Given the description of an element on the screen output the (x, y) to click on. 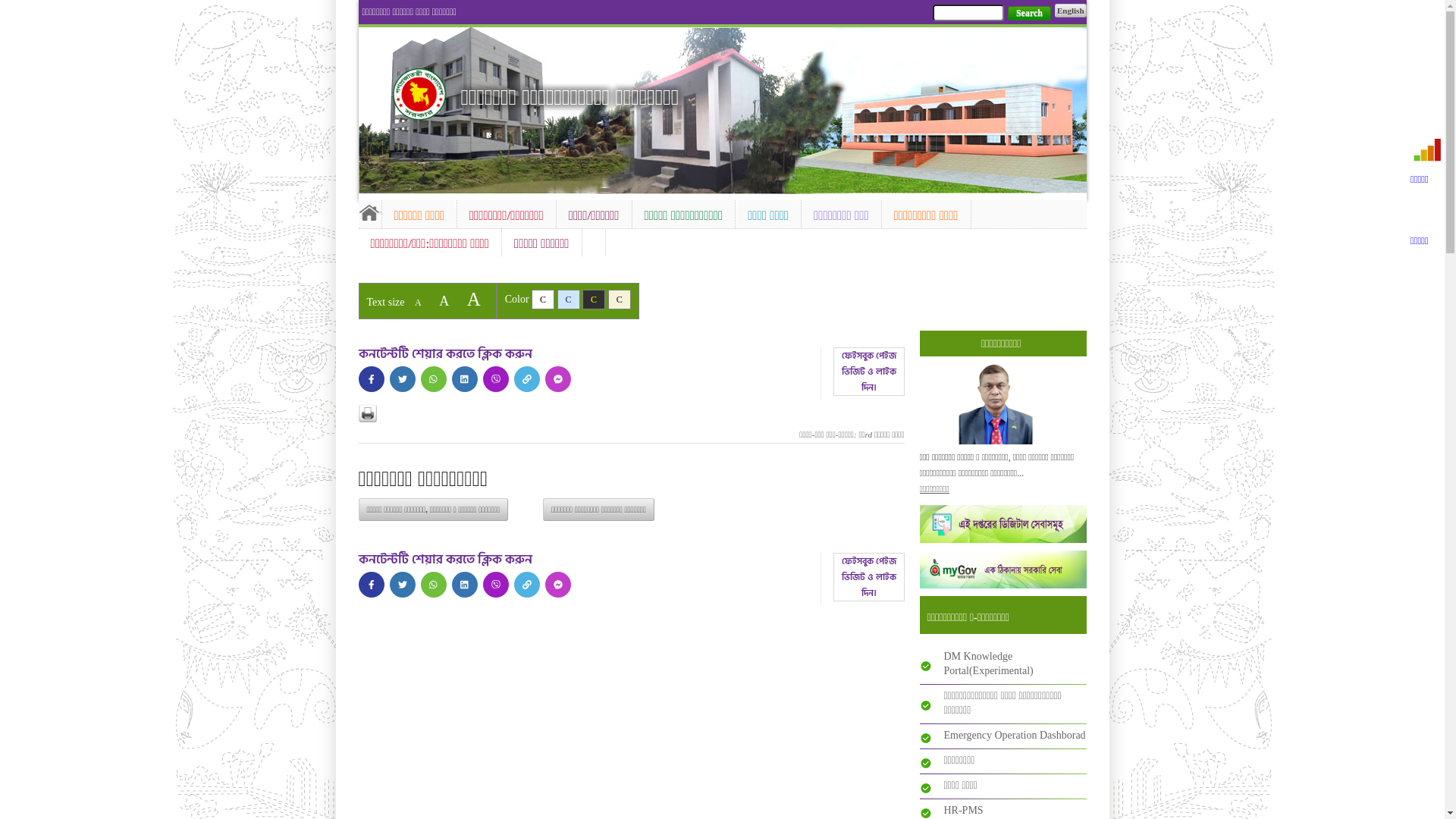
Home Element type: hover (368, 211)
C Element type: text (568, 299)
A Element type: text (443, 300)
C Element type: text (593, 299)
English Element type: text (1069, 10)
Emergency Operation Dashborad Element type: text (1014, 734)
A Element type: text (473, 299)
C Element type: text (619, 299)
A Element type: text (418, 302)
Search Element type: text (1029, 13)
DM Knowledge Portal(Experimental) Element type: text (987, 663)
HR-PMS Element type: text (962, 809)
Home Element type: hover (418, 93)
C Element type: text (542, 299)
